Given the description of an element on the screen output the (x, y) to click on. 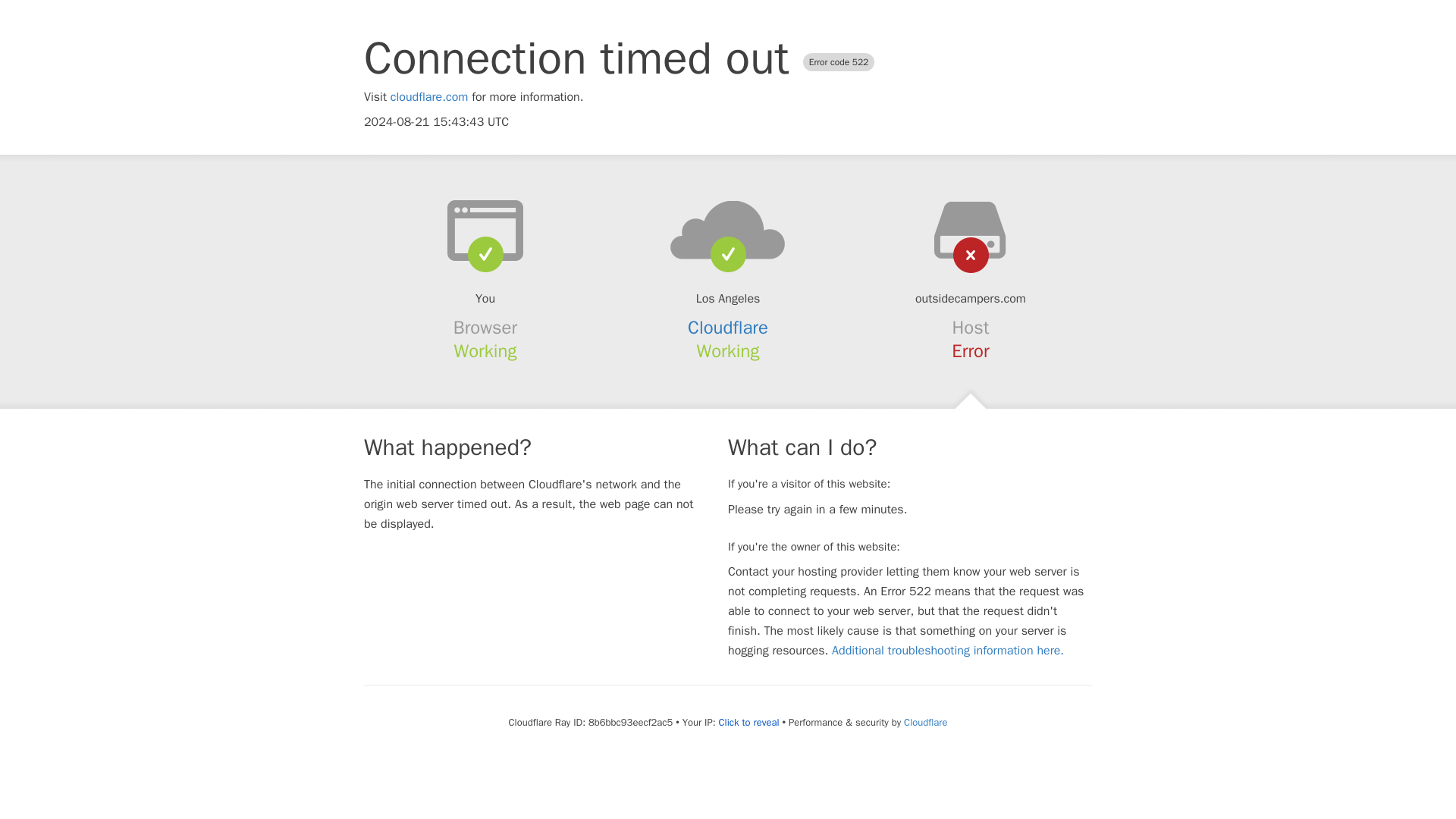
Additional troubleshooting information here. (947, 650)
cloudflare.com (429, 96)
Click to reveal (748, 722)
Cloudflare (727, 327)
Cloudflare (925, 721)
